Given the description of an element on the screen output the (x, y) to click on. 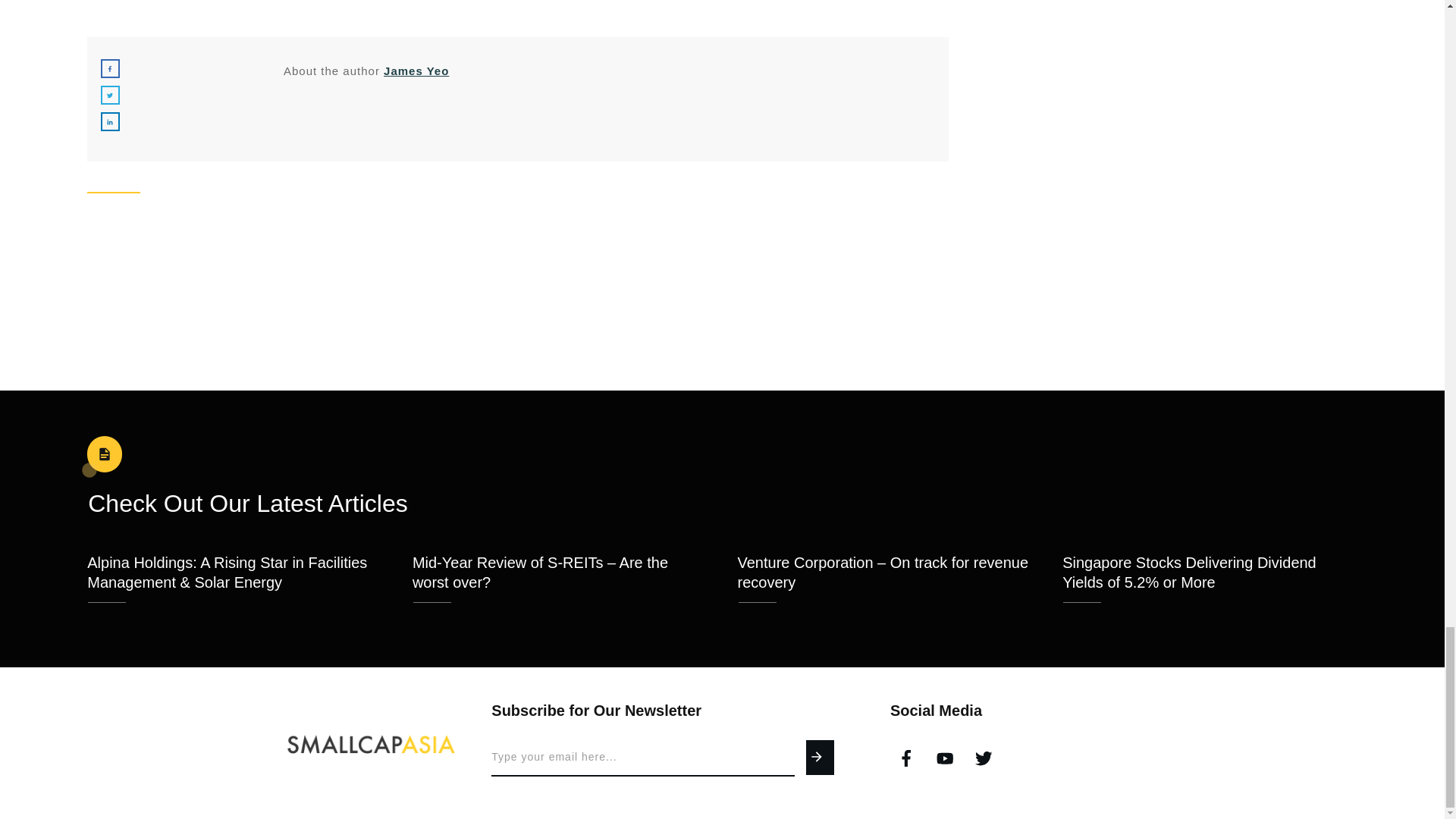
James Yeo (416, 70)
James Yeo (416, 70)
